Given the description of an element on the screen output the (x, y) to click on. 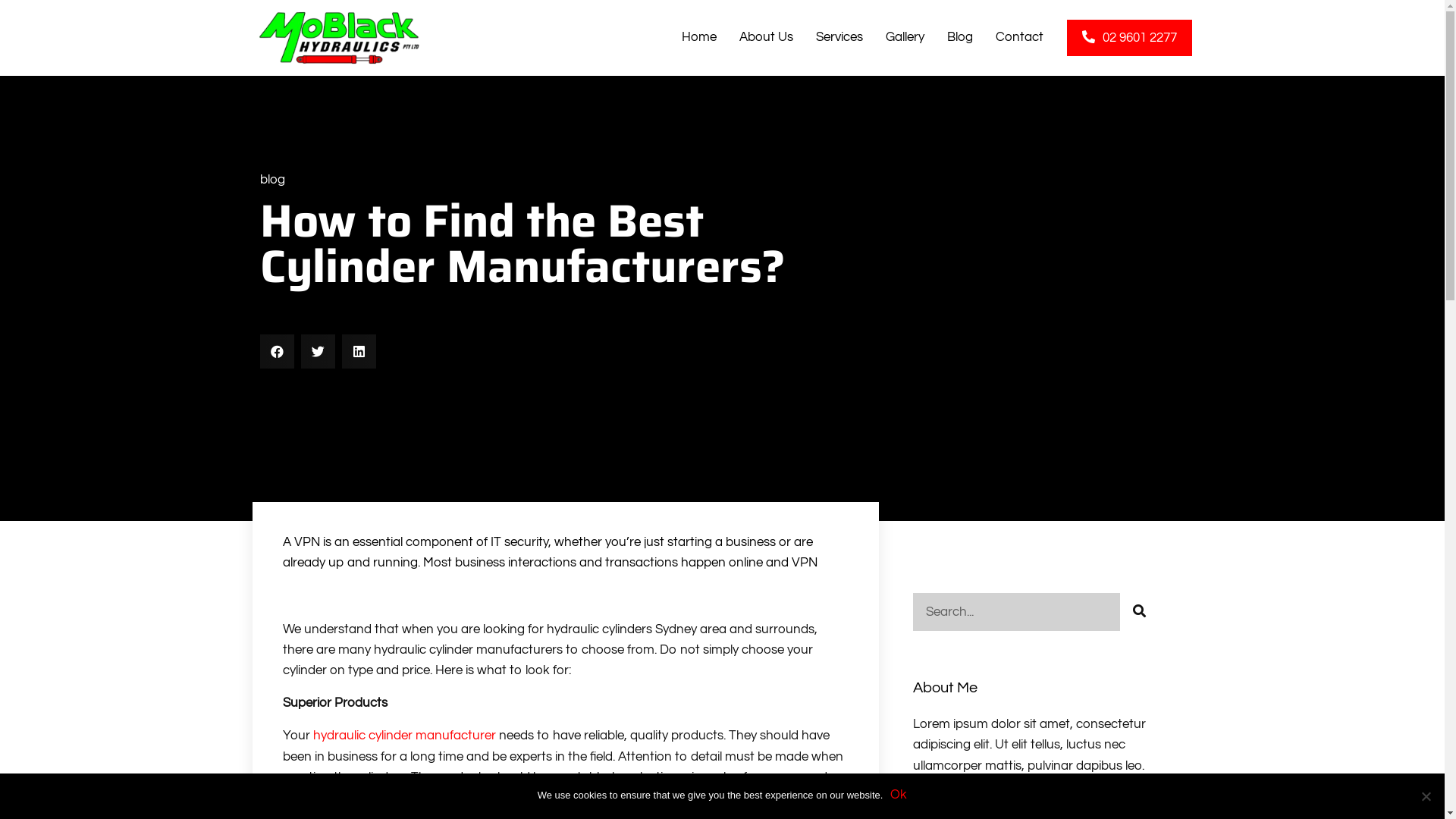
No Element type: hover (1425, 795)
hydraulic cylinder manufacturer Element type: text (403, 735)
Contact Element type: text (1019, 37)
Services Element type: text (839, 37)
About Us Element type: text (765, 37)
Ok Element type: text (898, 794)
blog Element type: text (271, 179)
Home Element type: text (699, 37)
02 9601 2277 Element type: text (1129, 37)
Blog Element type: text (959, 37)
Gallery Element type: text (904, 37)
